Given the description of an element on the screen output the (x, y) to click on. 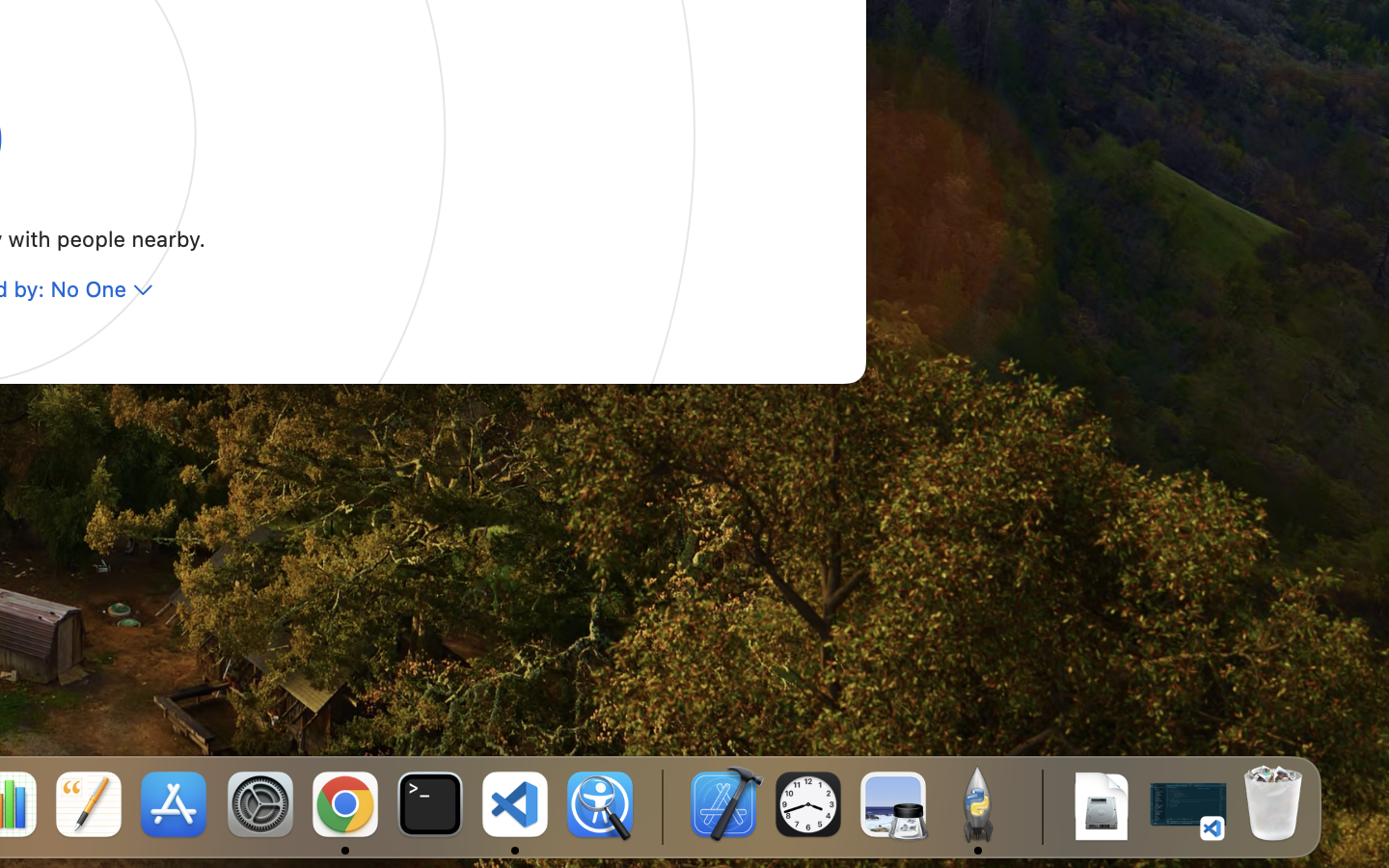
0.4285714328289032 Element type: AXDockItem (660, 805)
